Given the description of an element on the screen output the (x, y) to click on. 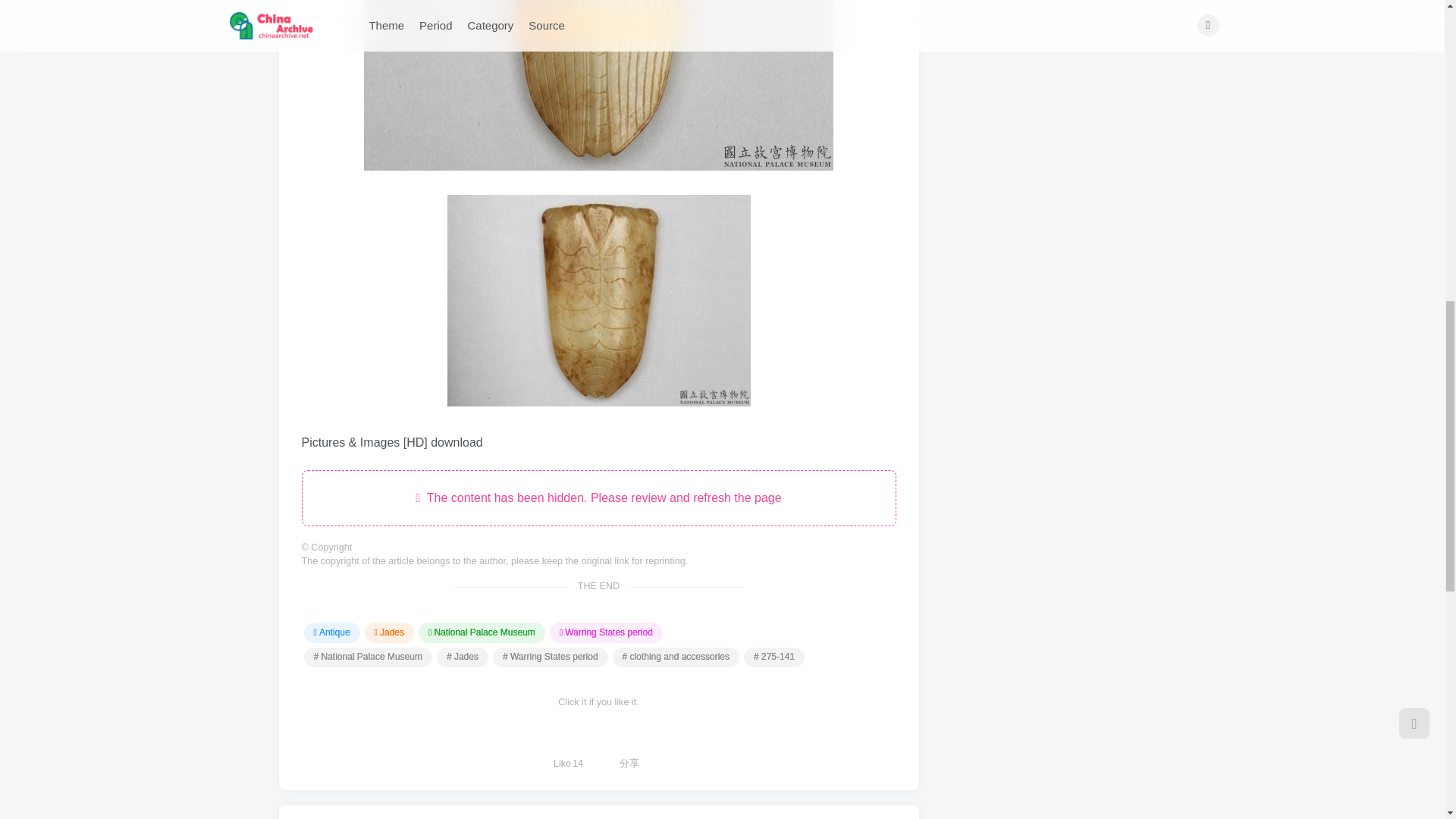
View more articles on this label (461, 657)
View more articles on this label (366, 657)
View more articles on this label (774, 657)
View more articles on this label (675, 657)
View more articles on this label (550, 657)
